Given the description of an element on the screen output the (x, y) to click on. 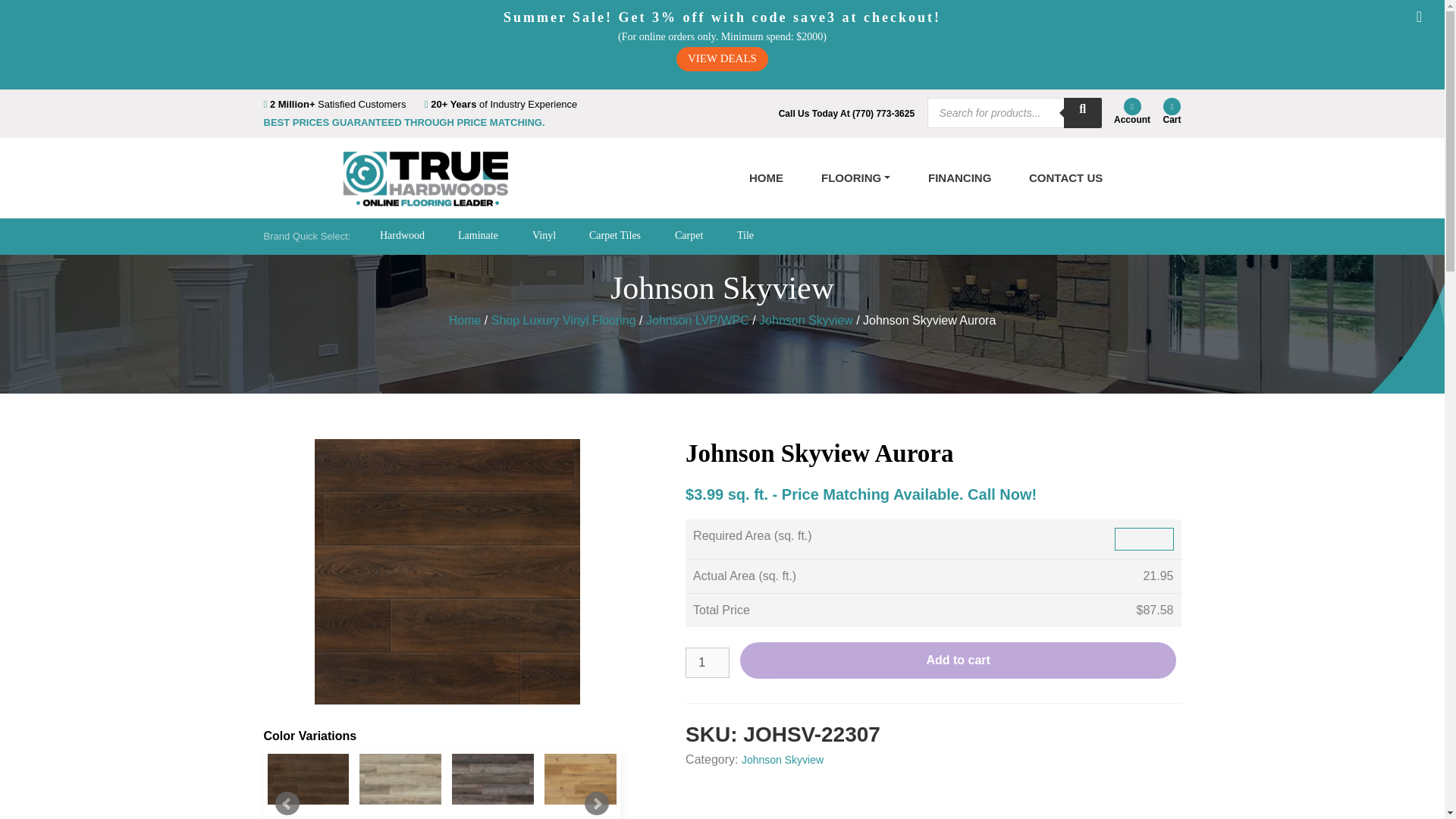
1 (707, 662)
Hardwood (402, 235)
FLOORING (855, 178)
Contact Us (1065, 178)
Financing (959, 178)
HOME (766, 178)
VIEW DEALS (722, 58)
CONTACT US (1065, 178)
Flooring (855, 178)
FINANCING (959, 178)
Account (1131, 111)
Home (766, 178)
